Given the description of an element on the screen output the (x, y) to click on. 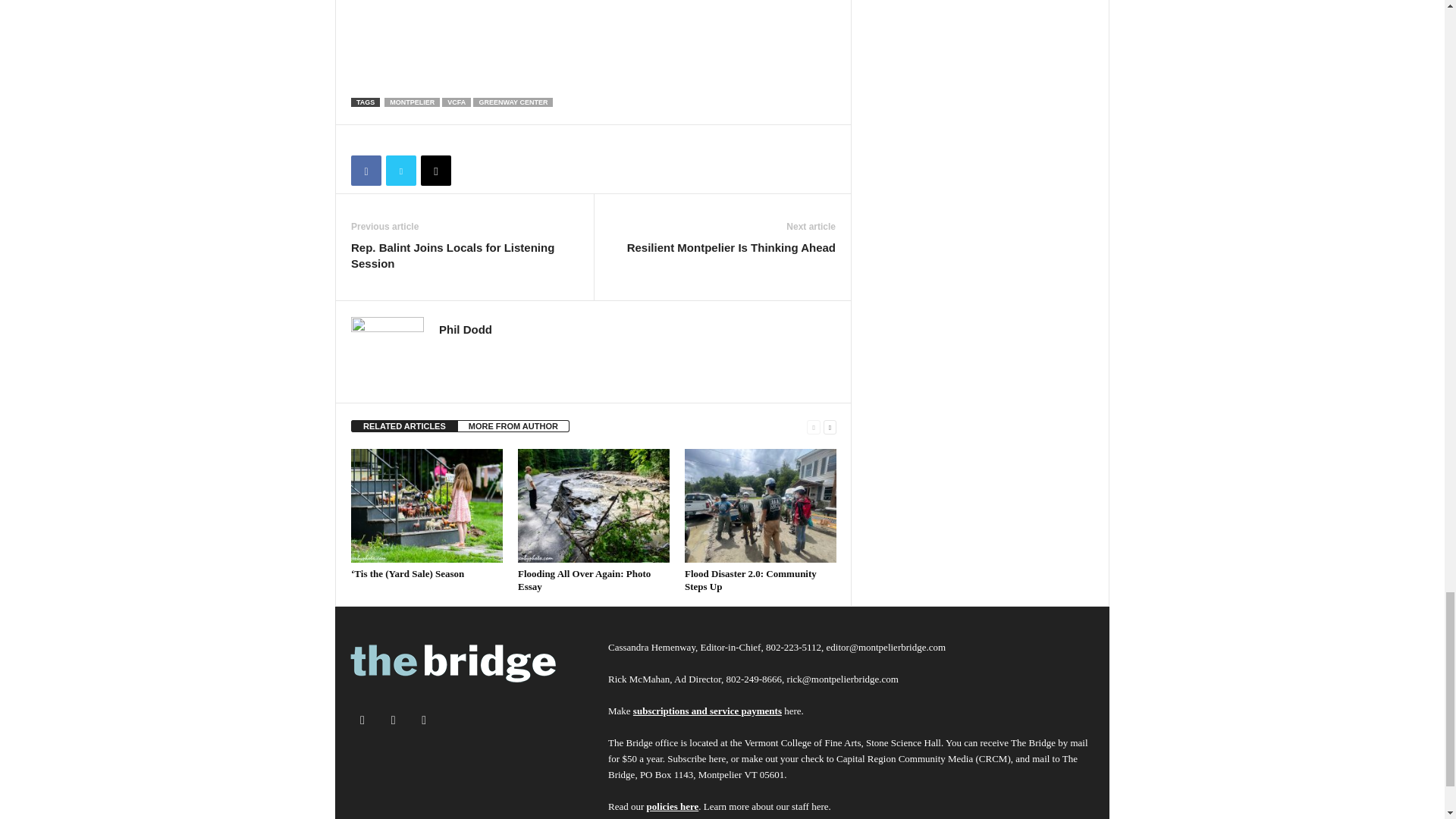
3rd party ad content (627, 40)
Flooding All Over Again: Photo Essay (593, 505)
